Given the description of an element on the screen output the (x, y) to click on. 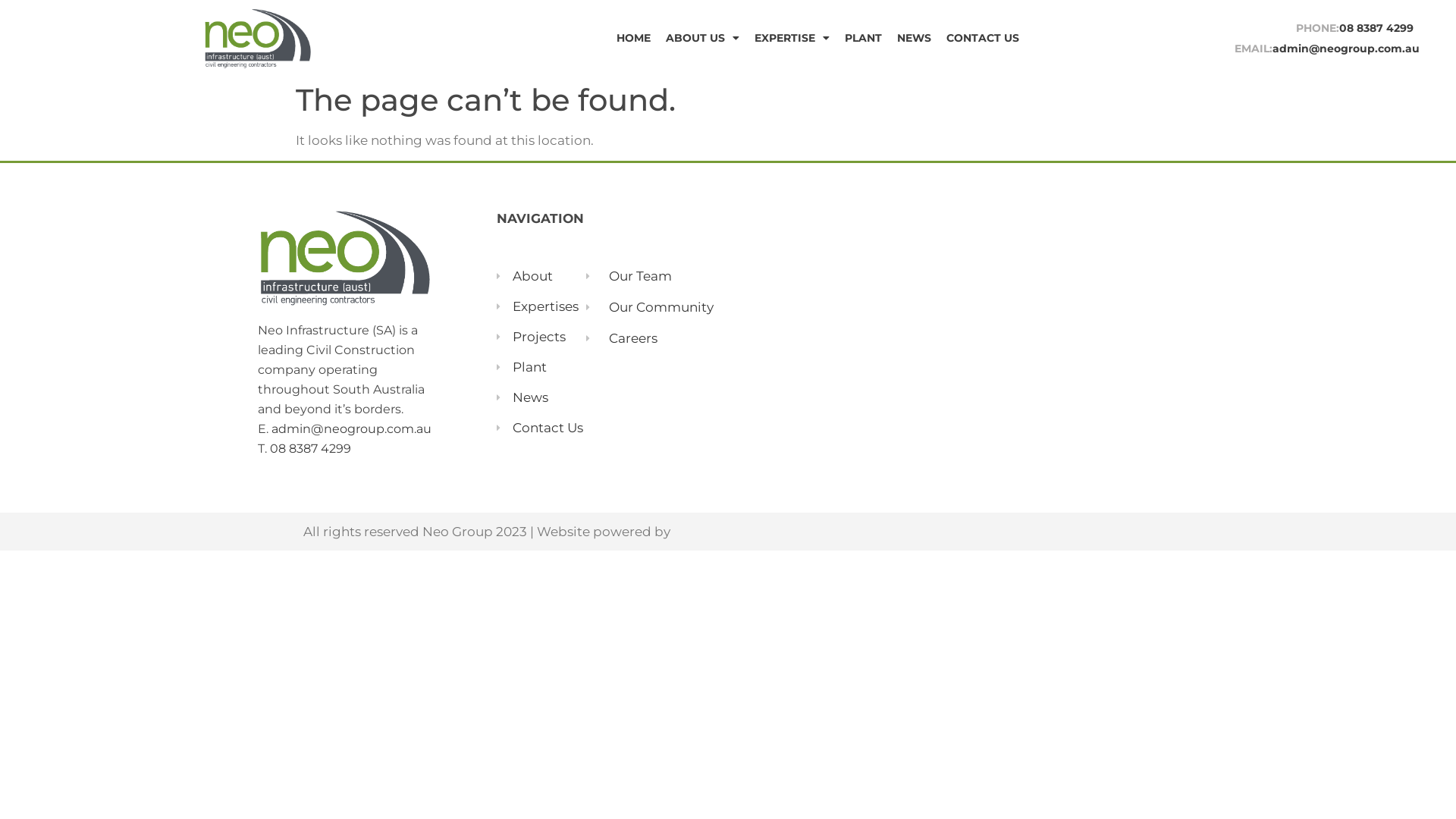
35 Lindsay Rd Lonsdale Element type: hover (847, 337)
ABOUT US Element type: text (702, 37)
EXPERTISE Element type: text (791, 37)
CONTACT US Element type: text (982, 37)
PLANT Element type: text (863, 37)
36 Railway Terrace Balaklava 5461 Element type: hover (1086, 337)
08 8387 4299 Element type: text (1376, 27)
admin@neogroup.com.au Element type: text (351, 428)
HOME Element type: text (633, 37)
admin@neogroup.com.au Element type: text (1345, 48)
08 8387 4299 Element type: text (310, 448)
NEWS Element type: text (913, 37)
